Given the description of an element on the screen output the (x, y) to click on. 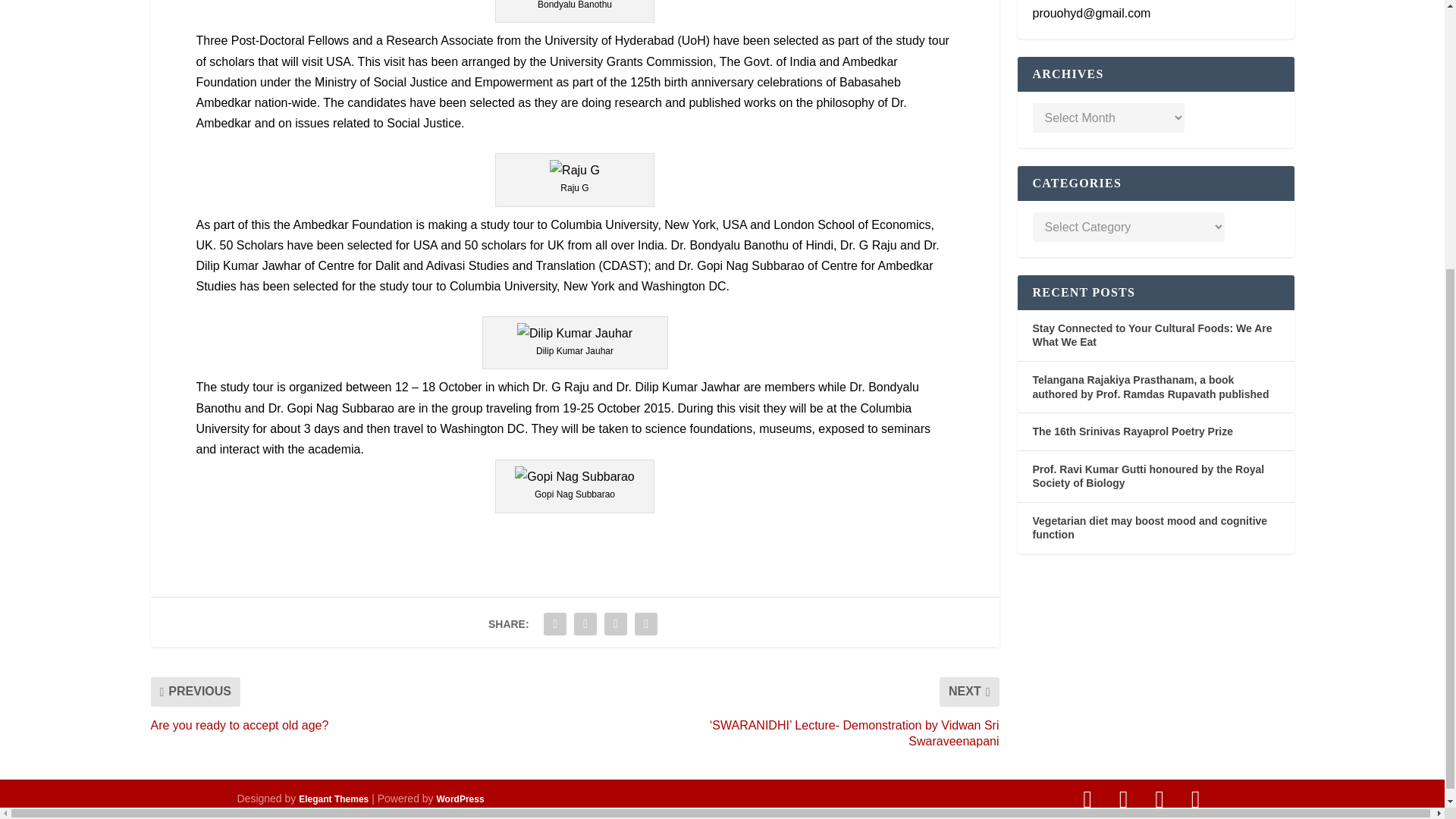
Stay Connected to Your Cultural Foods: We Are What We Eat (1152, 335)
The 16th Srinivas Rayaprol Poetry Prize (1132, 431)
Vegetarian diet may boost mood and cognitive function (1150, 528)
Elegant Themes (333, 798)
Premium WordPress Themes (333, 798)
WordPress (460, 798)
